Given the description of an element on the screen output the (x, y) to click on. 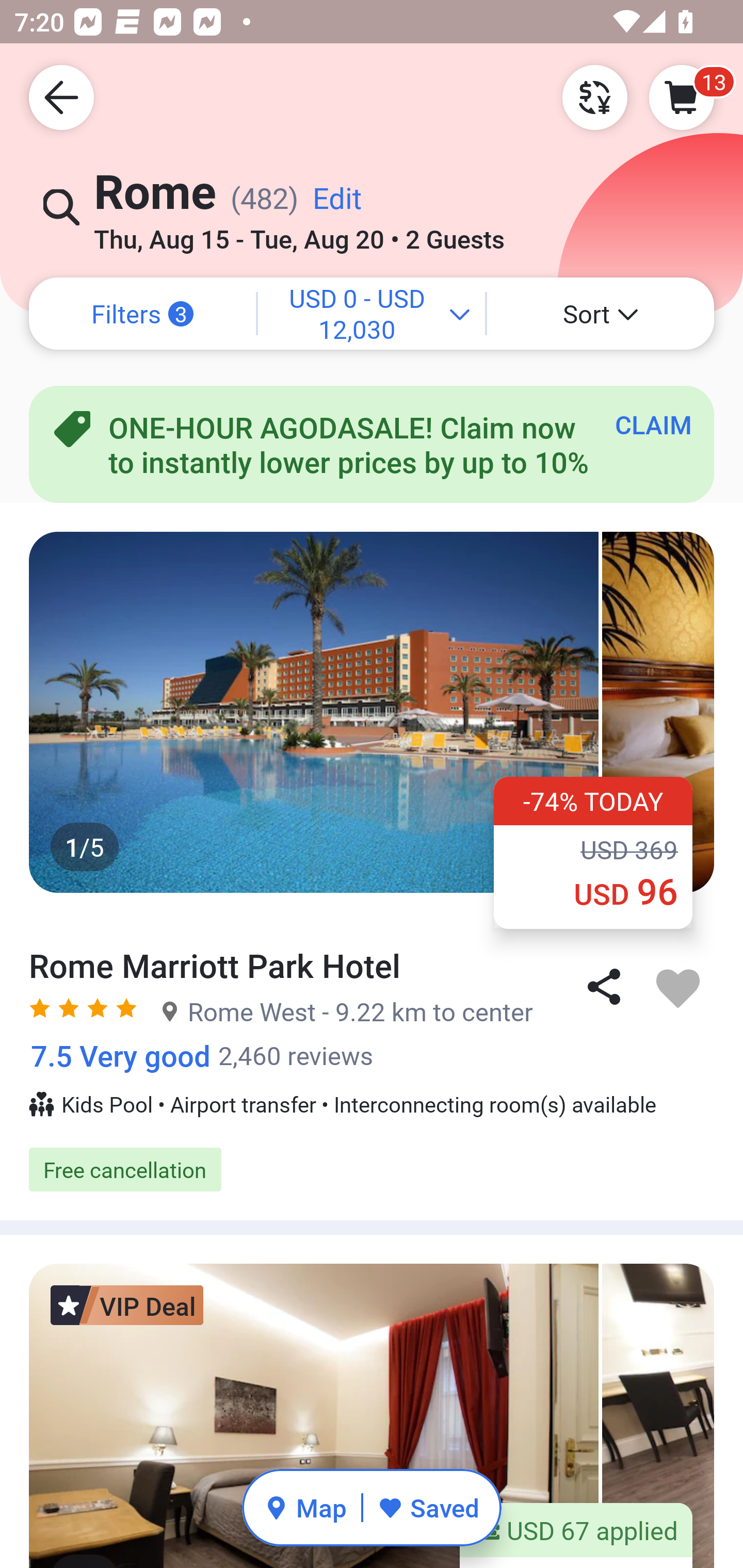
Filters 3 (141, 313)
⁦USD 0⁩ - ⁦USD 12,030⁩ (371, 313)
Sort (600, 313)
CLAIM (653, 424)
1/5 (371, 711)
-74% TODAY ‪USD 369 ‪USD 96 (593, 852)
Free cancellation (371, 1169)
VIP Deal (126, 1305)
1/5 (371, 1415)
Map (305, 1507)
Saved (428, 1507)
USD 67 applied ‪USD 331 -69% (575, 1535)
